Given the description of an element on the screen output the (x, y) to click on. 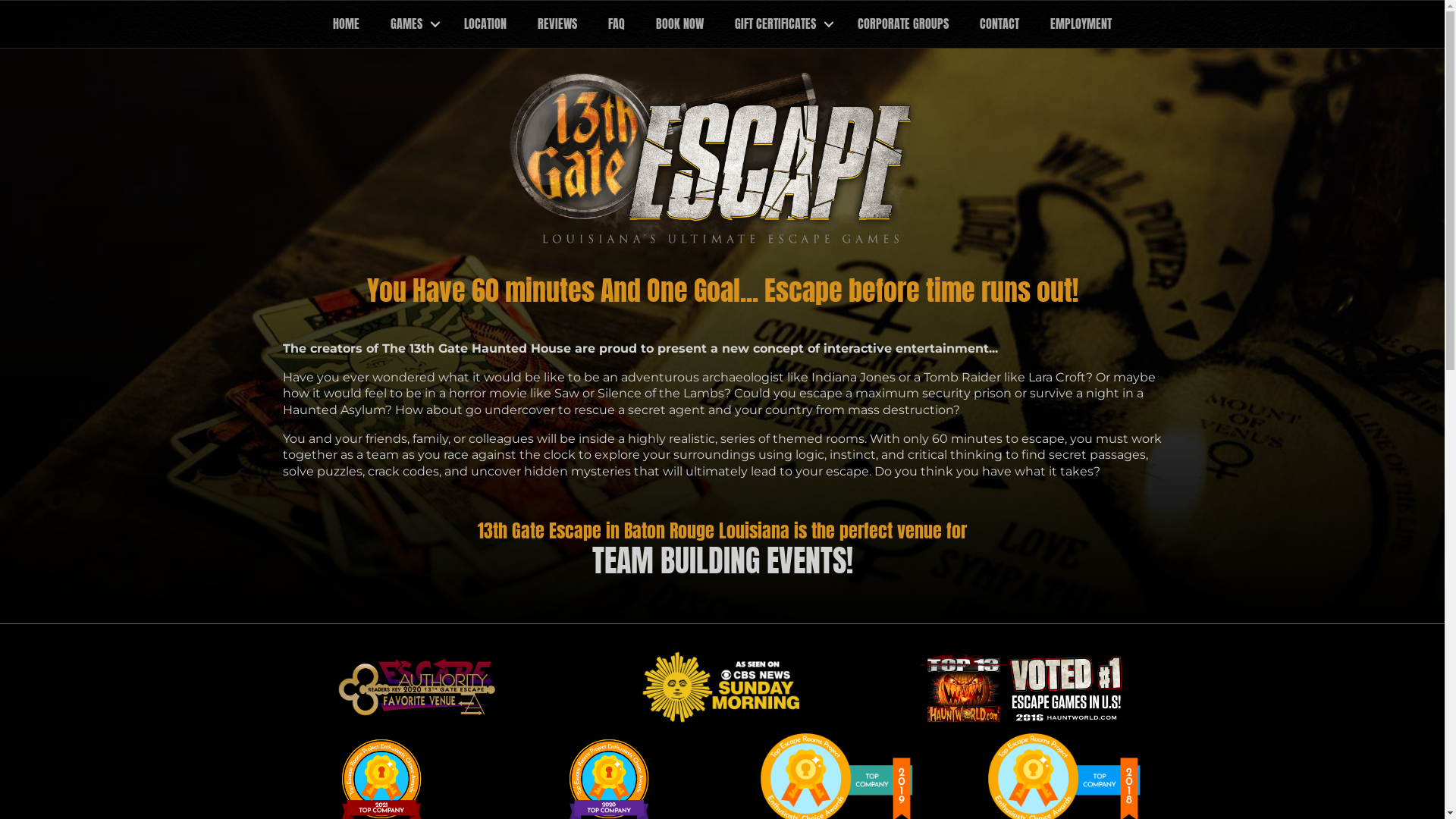
CONTACT Element type: text (999, 23)
CORPORATE GROUPS Element type: text (902, 23)
hauntworld-top13-2016 Element type: hover (1025, 690)
LOCATION Element type: text (484, 23)
HOME Element type: text (345, 23)
GIFT CERTIFICATES Element type: text (780, 23)
Readers-Key-Award-2020-13th-Gate-Escape-1240x433 Element type: hover (418, 686)
logo Element type: hover (721, 162)
GAMES Element type: text (411, 23)
EMPLOYMENT Element type: text (1080, 23)
REVIEWS Element type: text (557, 23)
FAQ Element type: text (616, 23)
BOOK NOW Element type: text (679, 23)
cbs-sunday-morning-logo Element type: hover (721, 686)
